Given the description of an element on the screen output the (x, y) to click on. 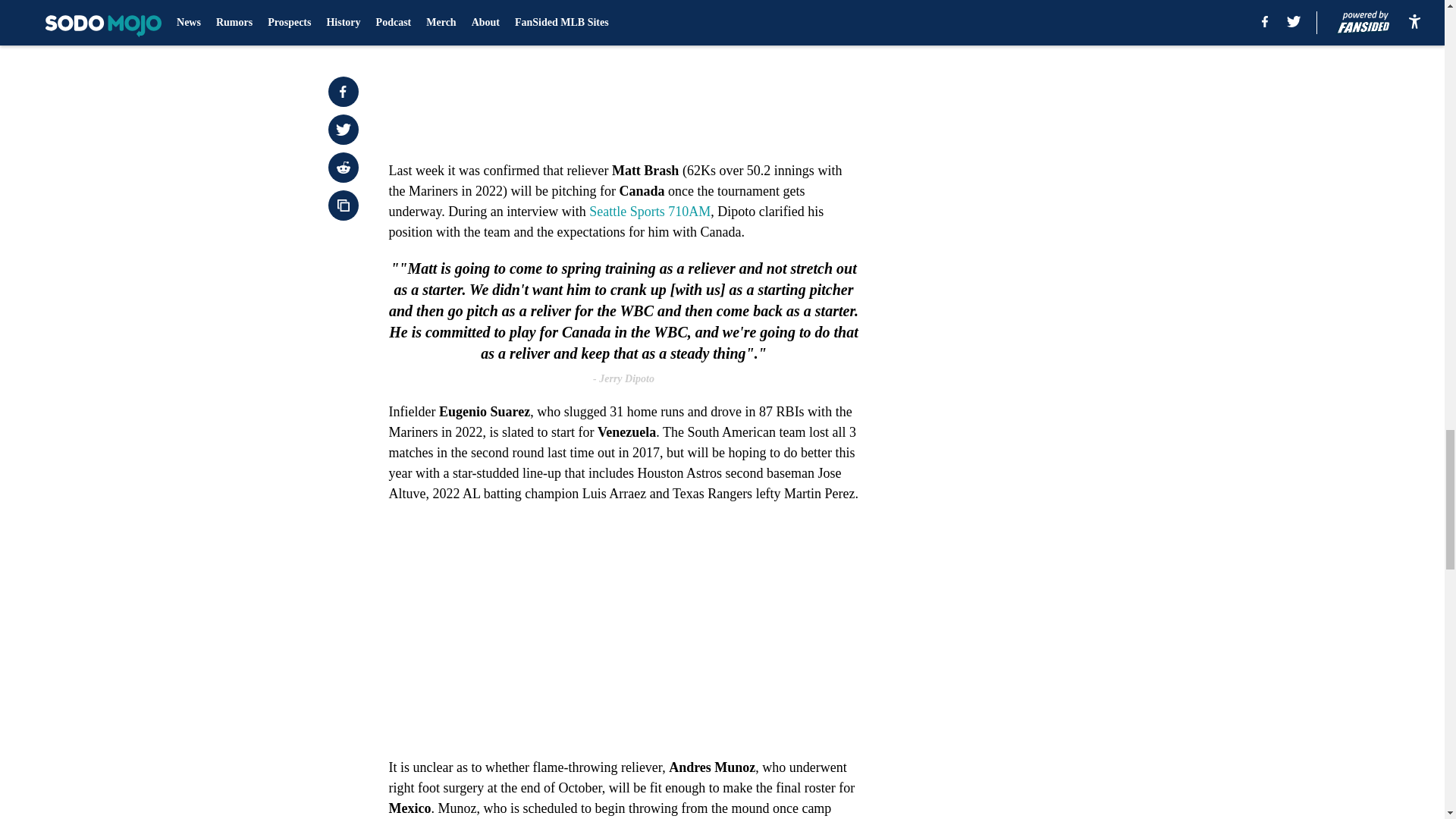
Seattle Sports 710AM (649, 211)
